Given the description of an element on the screen output the (x, y) to click on. 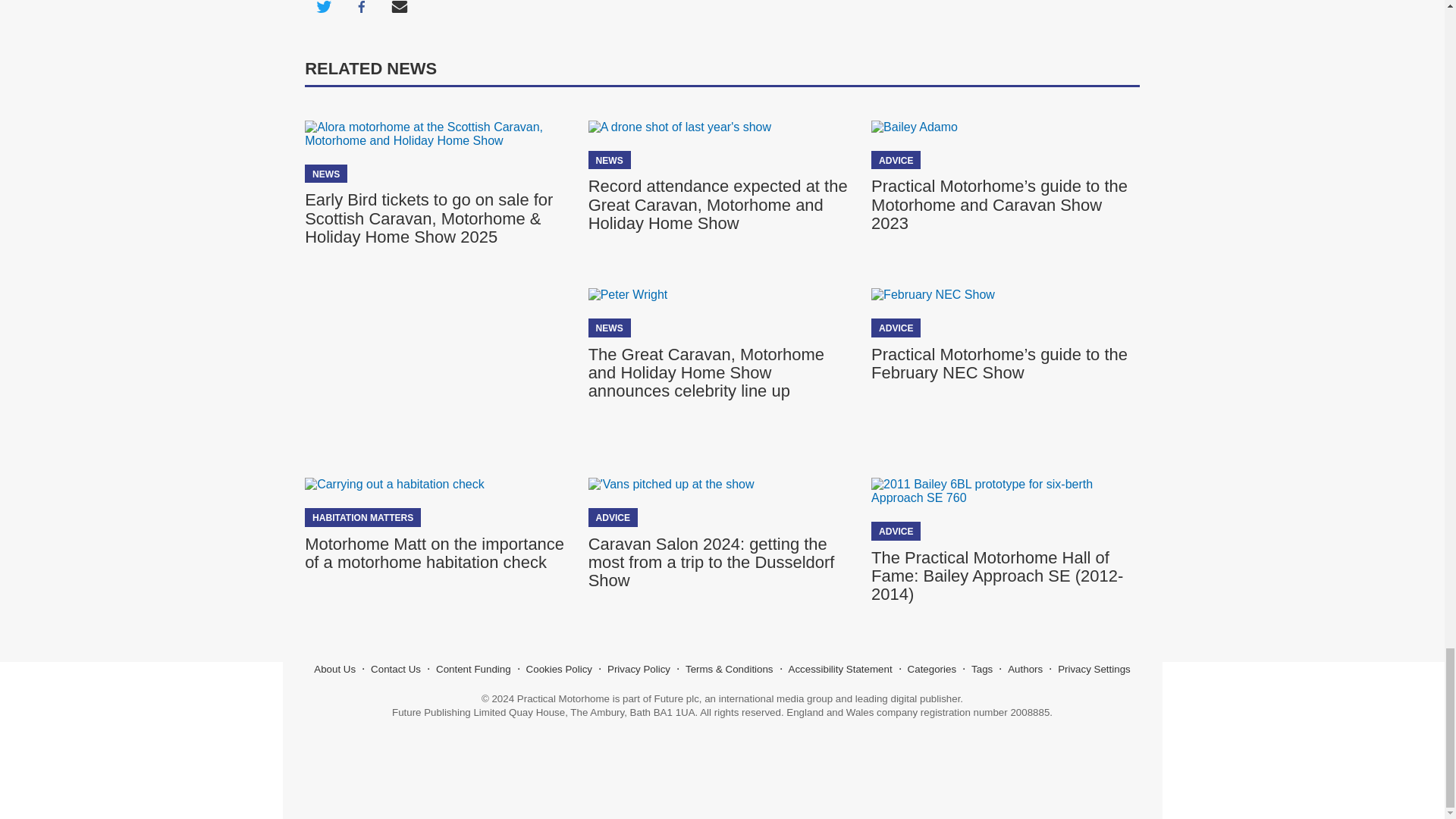
Share on Facebook (361, 12)
Share on Twitter (323, 12)
Share via Email (399, 12)
